Given the description of an element on the screen output the (x, y) to click on. 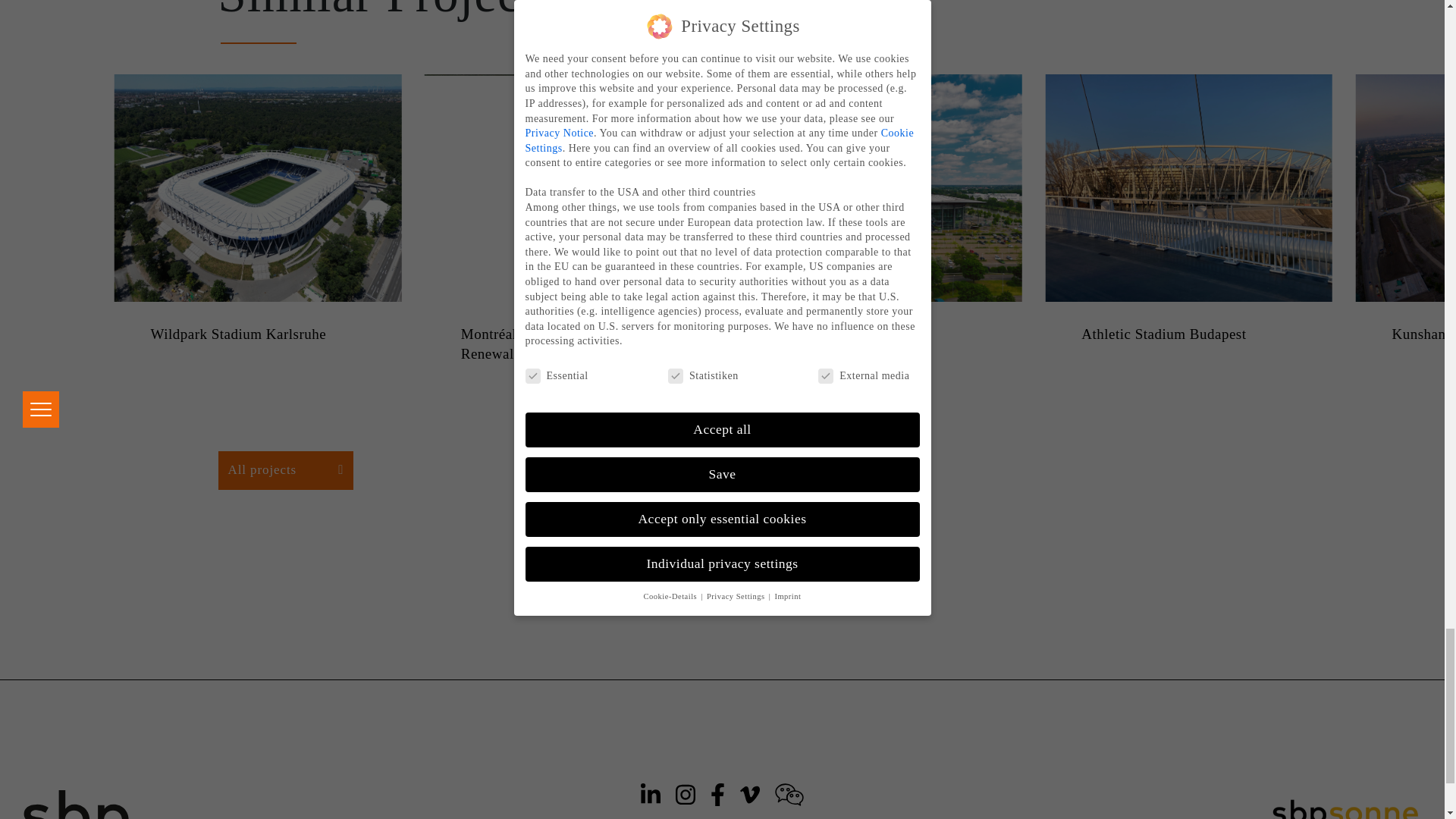
Volkswagen Arena (878, 334)
Athletic Stadium Budapest (1188, 334)
Wildpark Stadium Karlsruhe (257, 334)
